Given the description of an element on the screen output the (x, y) to click on. 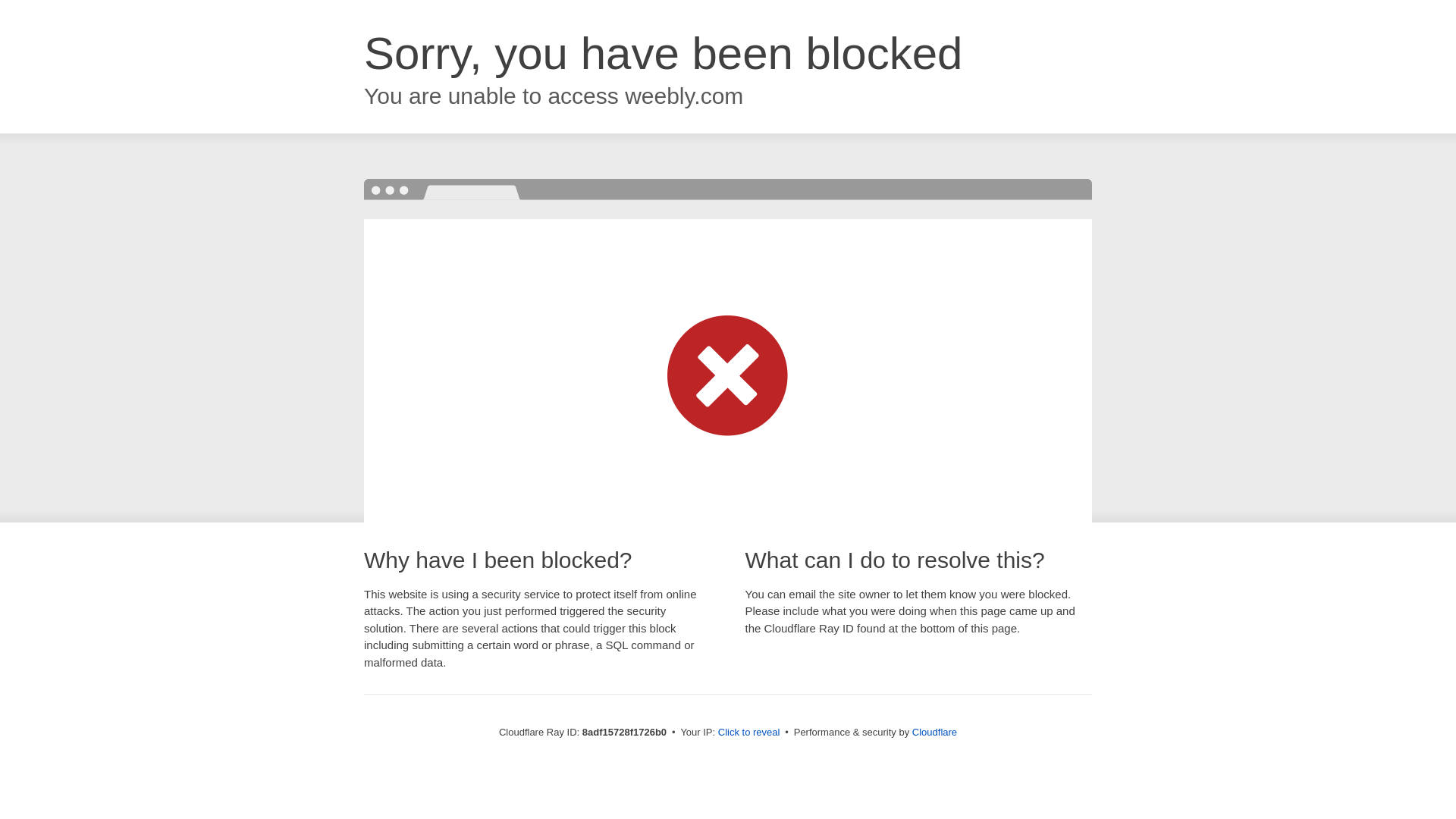
Click to reveal (748, 732)
Cloudflare (934, 731)
